Given the description of an element on the screen output the (x, y) to click on. 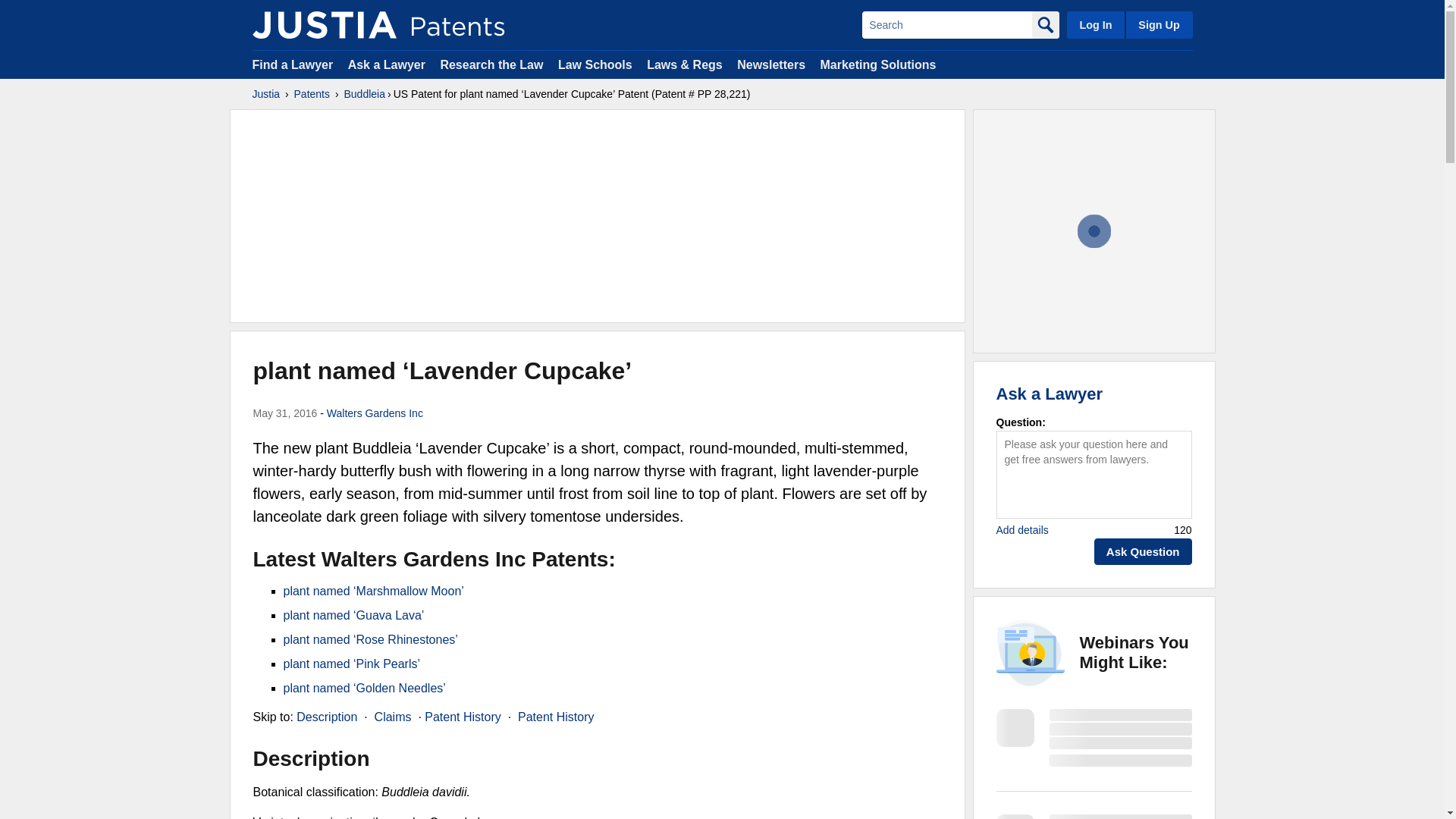
Log In (1094, 24)
Research the Law (491, 64)
Walters Gardens Inc (374, 413)
Ask a Lawyer (386, 64)
Justia (323, 24)
Search (945, 24)
Description (326, 716)
Marketing Solutions (877, 64)
Patents (312, 93)
Claims (393, 716)
Patent History (462, 716)
Find a Lawyer (292, 64)
Patent History (556, 716)
Newsletters (770, 64)
Law Schools (594, 64)
